Given the description of an element on the screen output the (x, y) to click on. 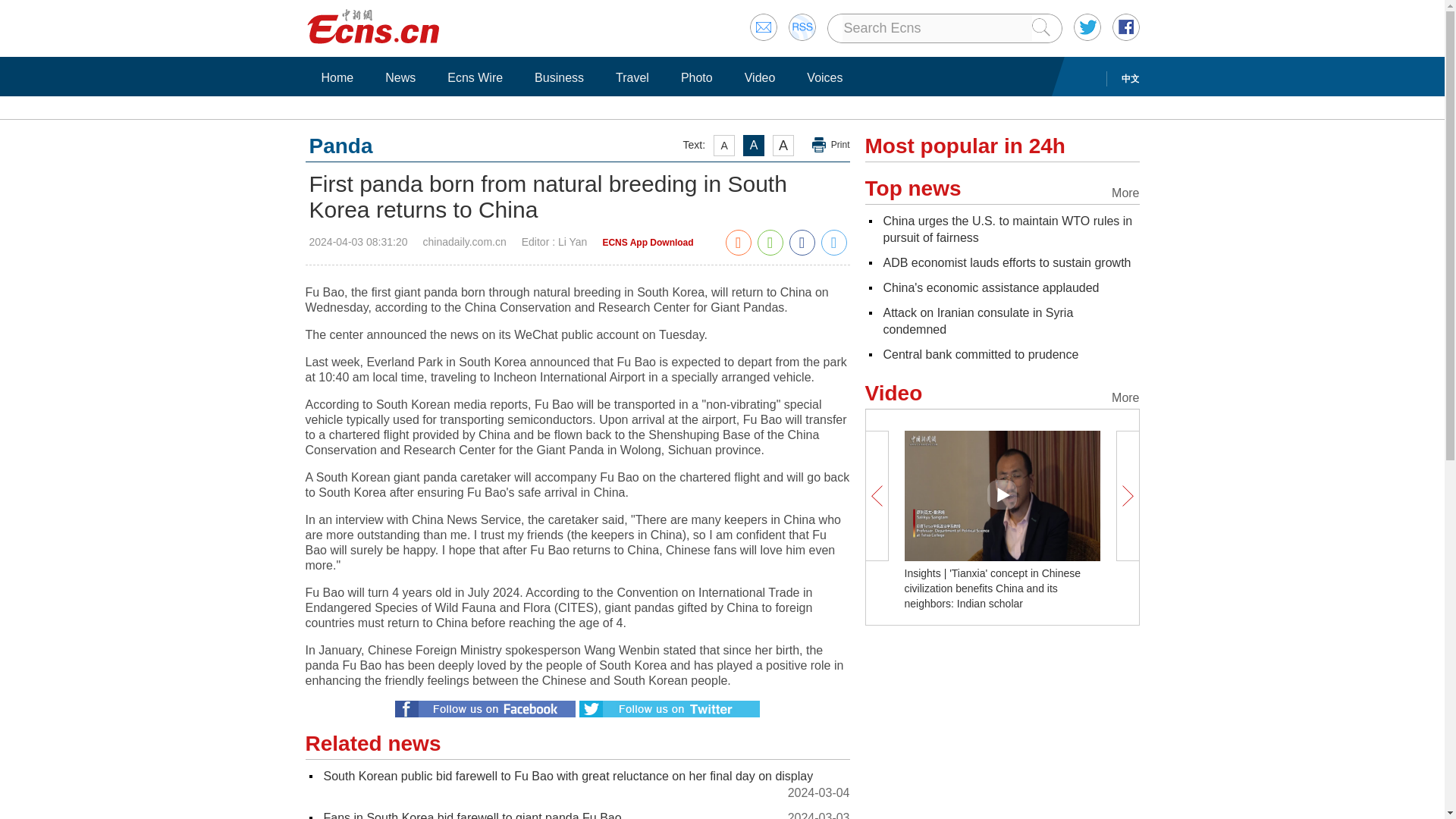
Video (760, 77)
News (400, 77)
Voices (823, 77)
Photo (696, 77)
Travel (632, 77)
Business (558, 77)
Ecns Wire (475, 77)
Home (337, 77)
Print (831, 144)
Search Ecns (935, 27)
